Given the description of an element on the screen output the (x, y) to click on. 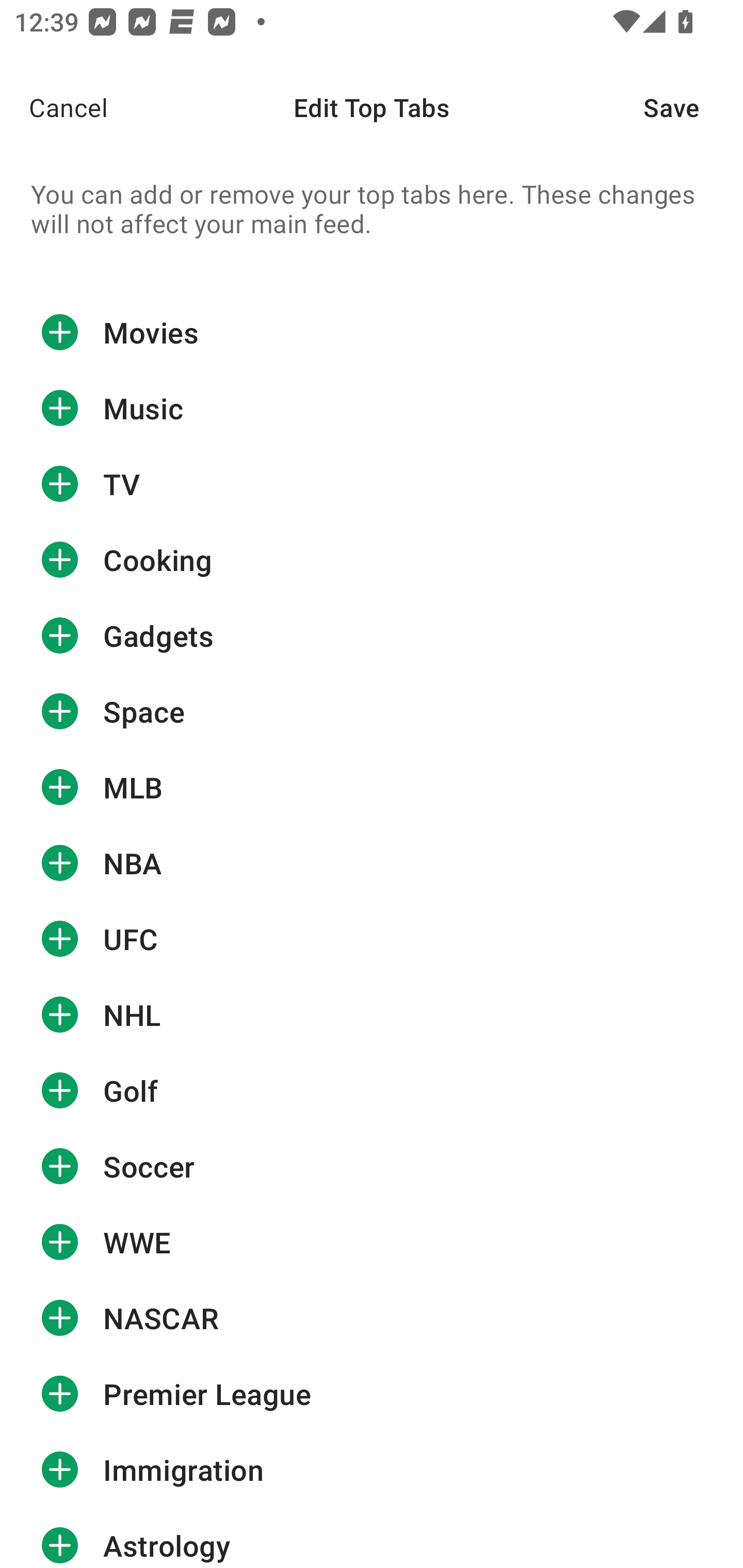
Cancel (53, 106)
Save (693, 106)
Movies (371, 332)
Music (371, 408)
TV (371, 484)
Cooking (371, 559)
Gadgets (371, 635)
Space (371, 711)
MLB (371, 786)
NBA (371, 862)
UFC (371, 938)
NHL (371, 1014)
Golf (371, 1090)
Soccer (371, 1166)
WWE (371, 1241)
NASCAR (371, 1317)
Premier League (371, 1393)
Immigration (371, 1469)
Astrology (371, 1538)
